Given the description of an element on the screen output the (x, y) to click on. 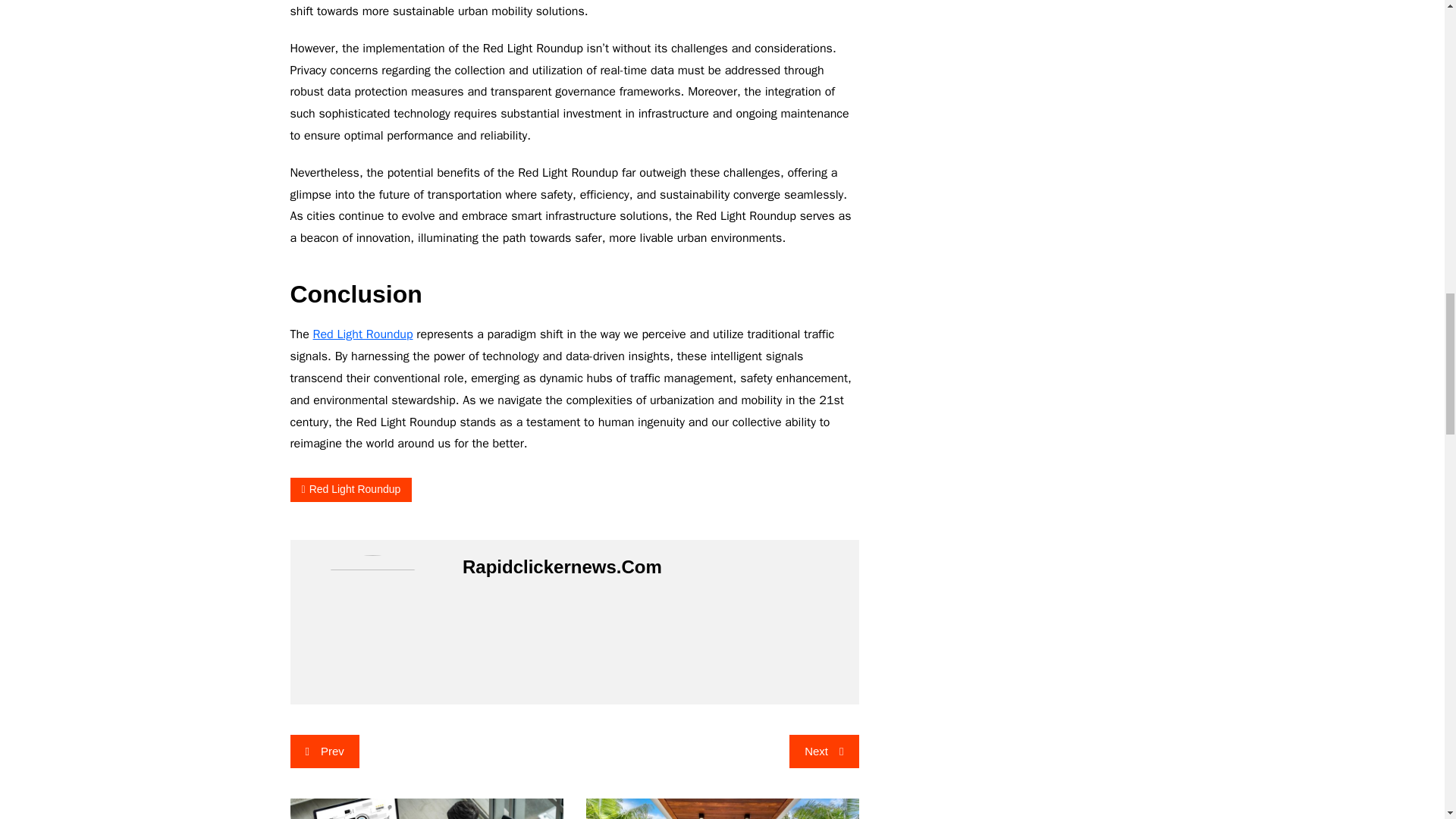
Next (824, 751)
Prev (323, 751)
Red Light Roundup (350, 489)
Red Light Roundup (363, 334)
